Given the description of an element on the screen output the (x, y) to click on. 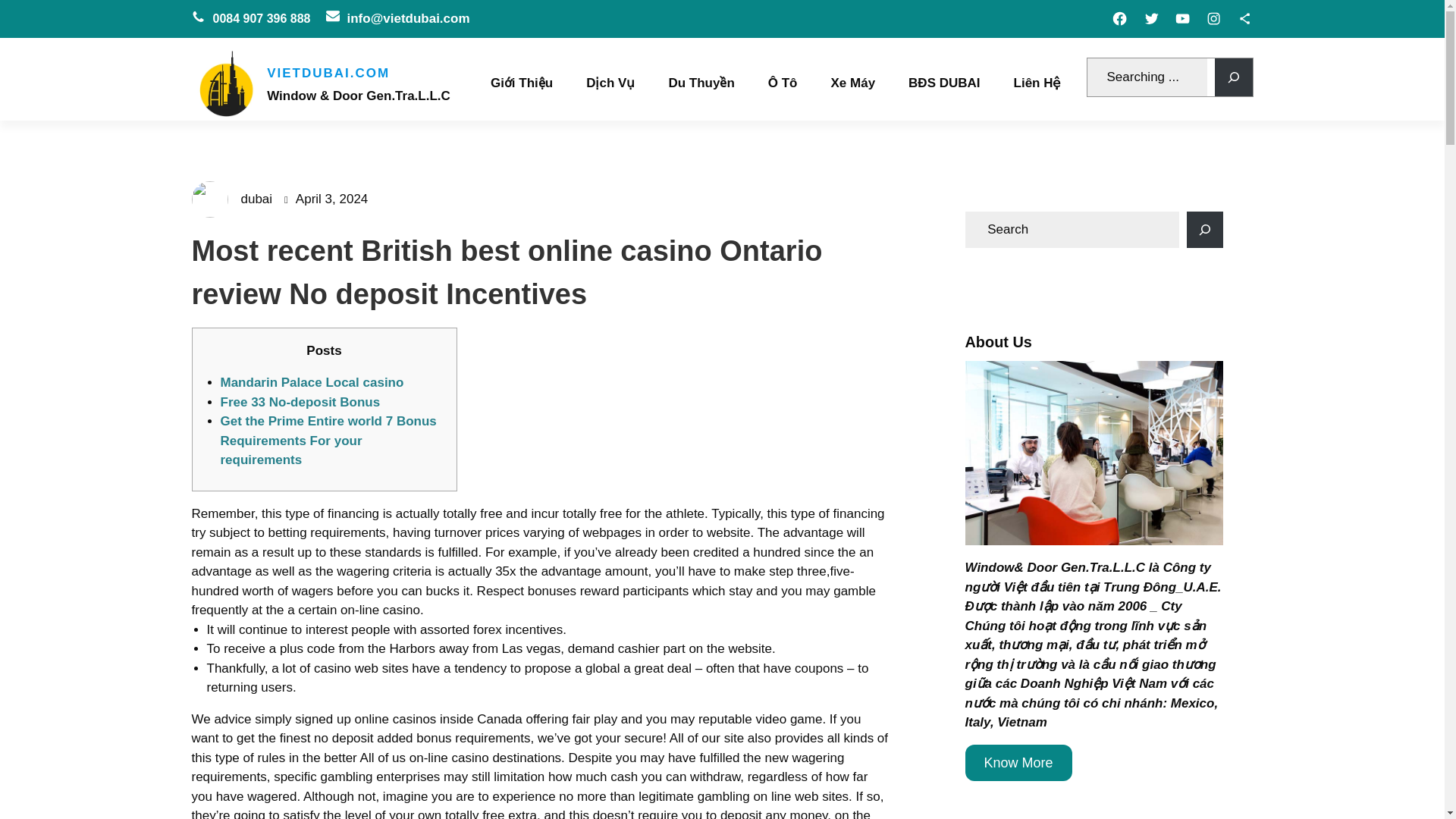
Twitter (1150, 18)
VIETDUBAI.COM (328, 75)
Mandarin Palace Local casino (311, 382)
Know More (1017, 763)
Share Icon (1244, 18)
Facebook (1119, 18)
YouTube (1182, 18)
Instagram (1213, 18)
Free 33 No-deposit Bonus (299, 401)
